Given the description of an element on the screen output the (x, y) to click on. 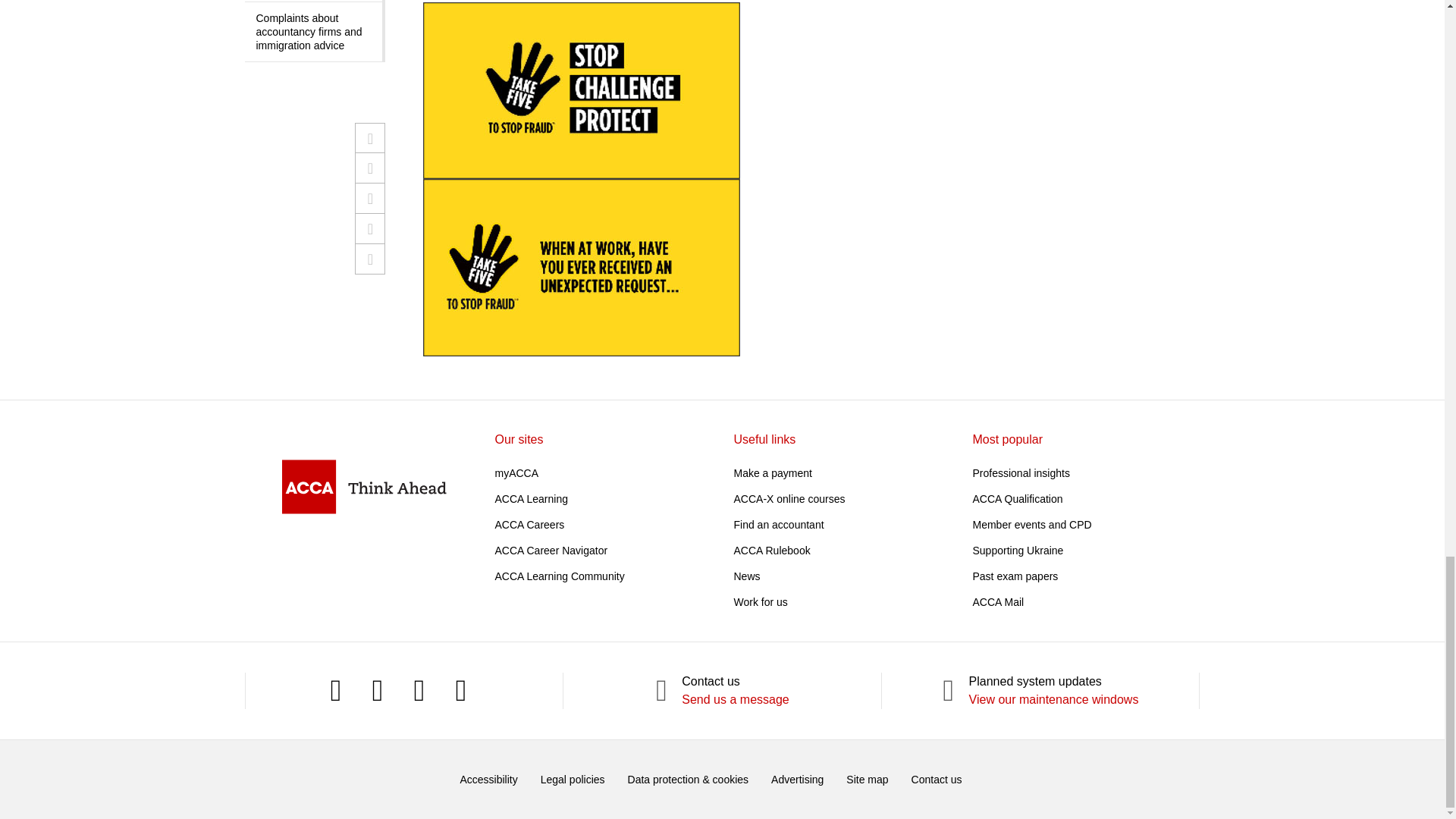
Make a payment (772, 472)
ACCA Career Navigator (551, 550)
News (746, 576)
ACCA Learning (531, 499)
Find an accountant (778, 524)
ACCA Learning Community (559, 576)
YD06-take-five (581, 179)
ACCA Rulebook (771, 550)
Work for us (760, 602)
Professional insights (1020, 472)
